Given the description of an element on the screen output the (x, y) to click on. 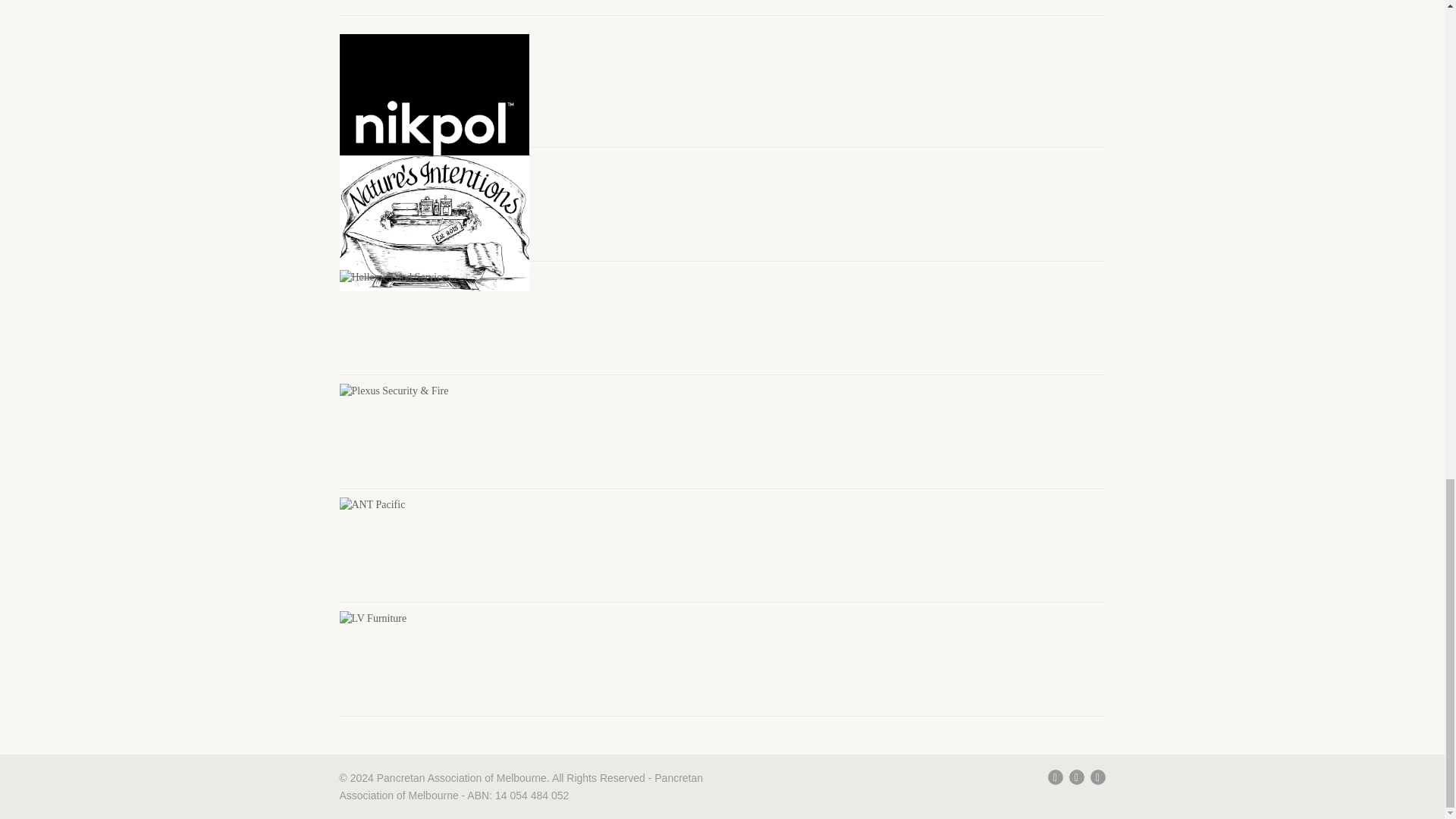
Natures Intentions (434, 223)
Hellenic Food Services (395, 277)
Nikpol (434, 128)
